Given the description of an element on the screen output the (x, y) to click on. 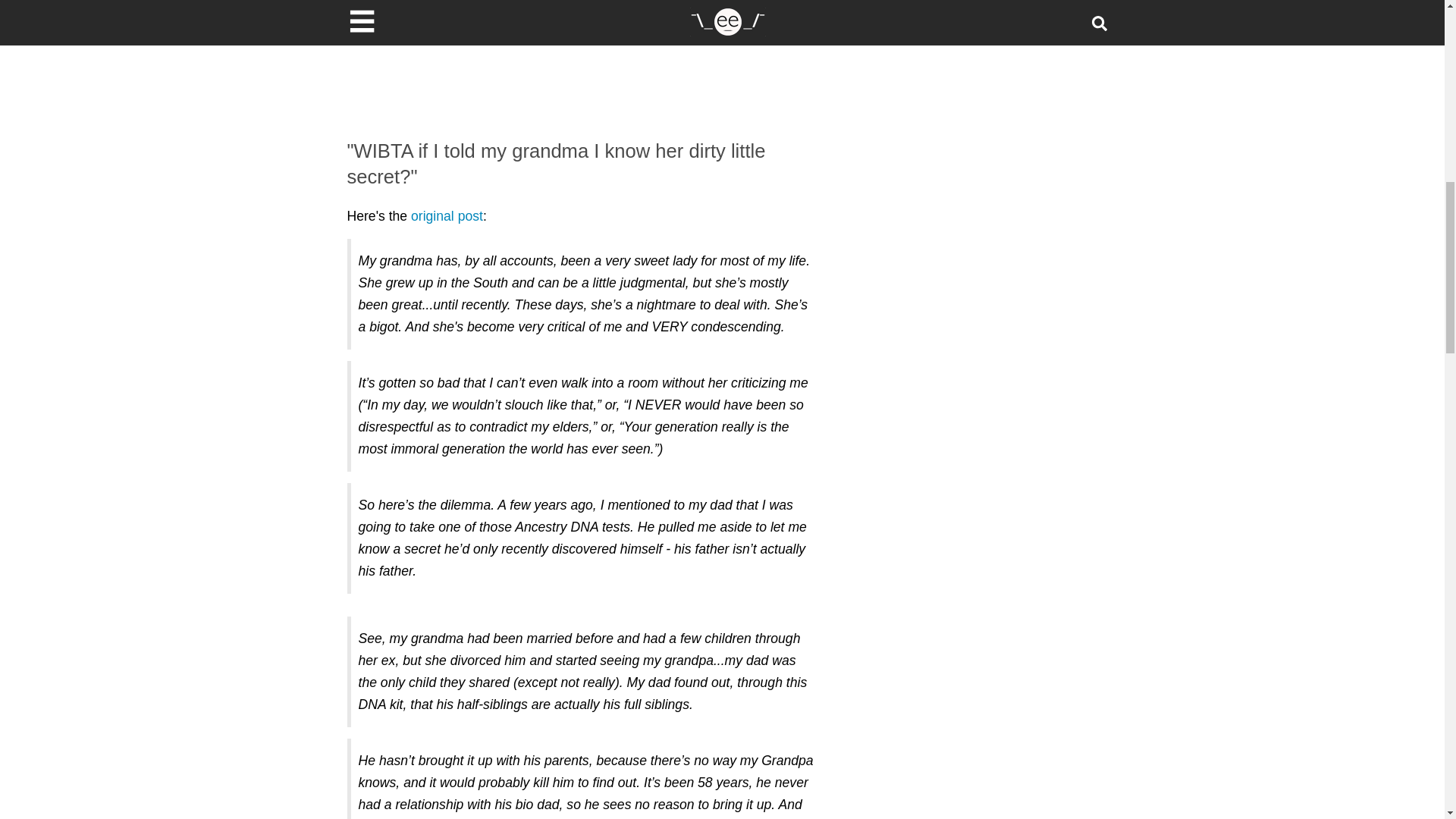
3rd party ad content (581, 58)
original post (446, 215)
